Given the description of an element on the screen output the (x, y) to click on. 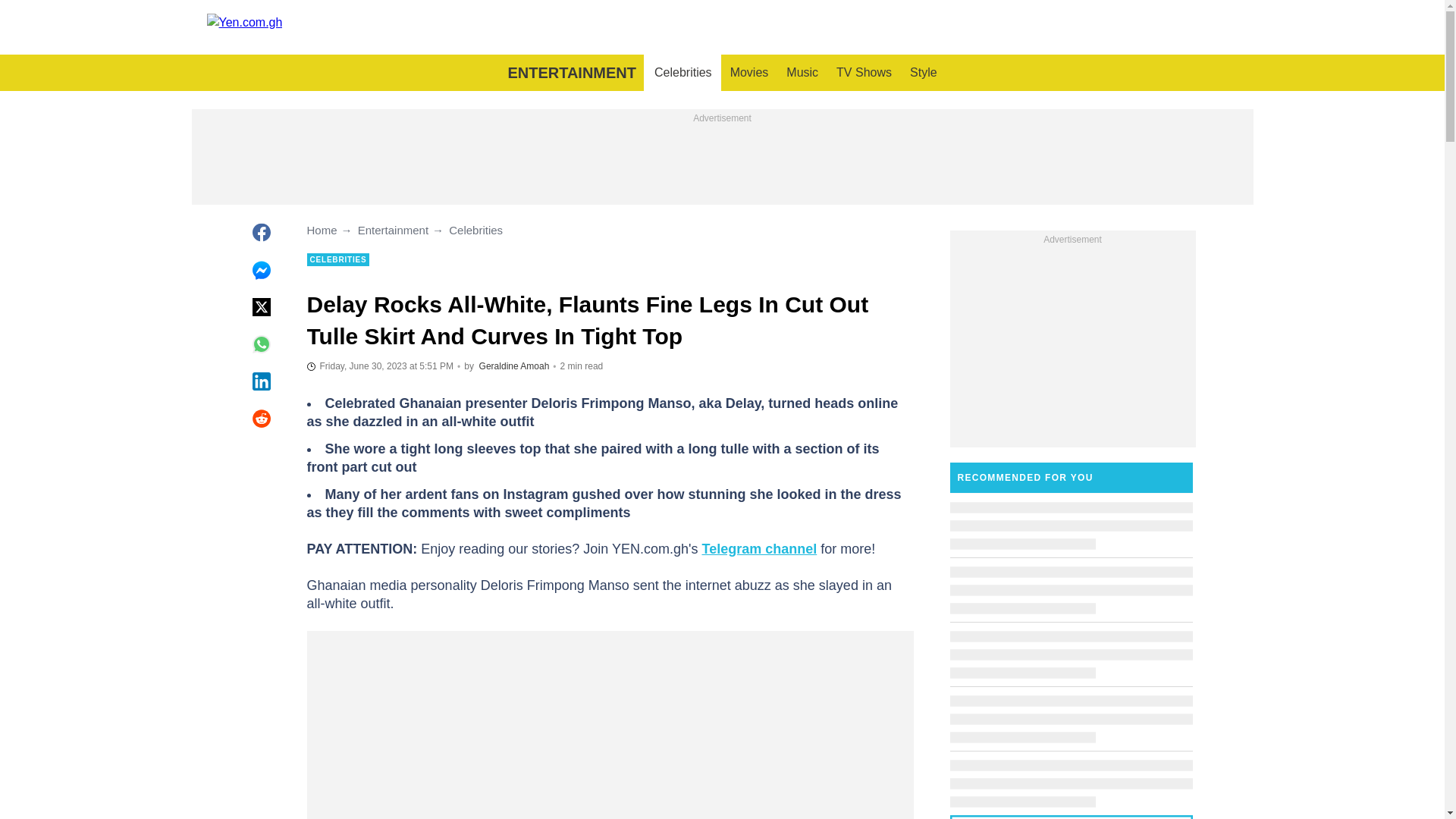
Movies (748, 72)
ENTERTAINMENT (571, 72)
2023-06-30T17:51:47Z (378, 366)
Style (923, 72)
Celebrities (682, 72)
TV Shows (864, 72)
Music (802, 72)
Author page (514, 366)
